Given the description of an element on the screen output the (x, y) to click on. 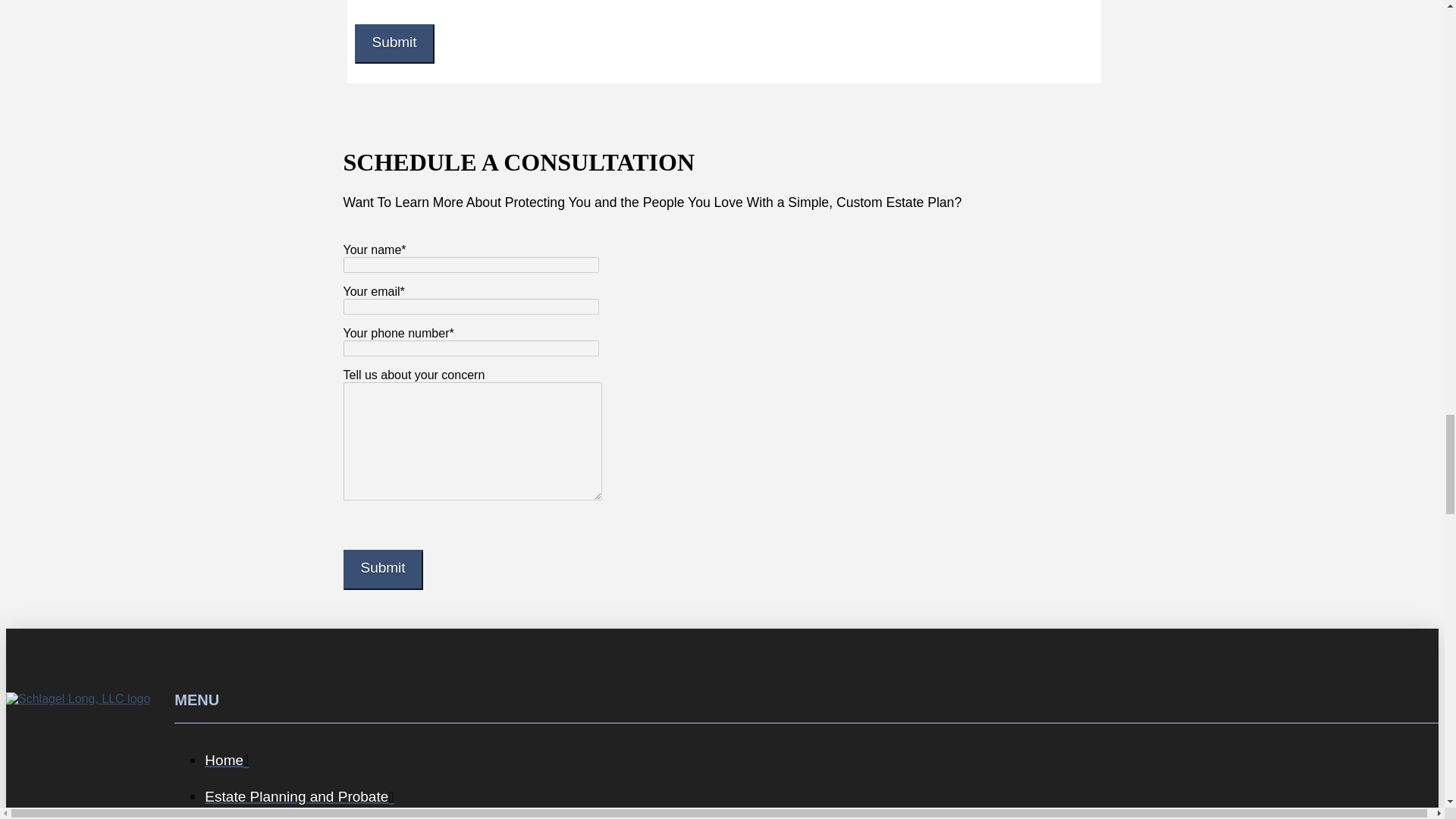
Submit (394, 44)
Submit (382, 569)
Submit (382, 569)
Submit (394, 44)
Home (821, 760)
